Given the description of an element on the screen output the (x, y) to click on. 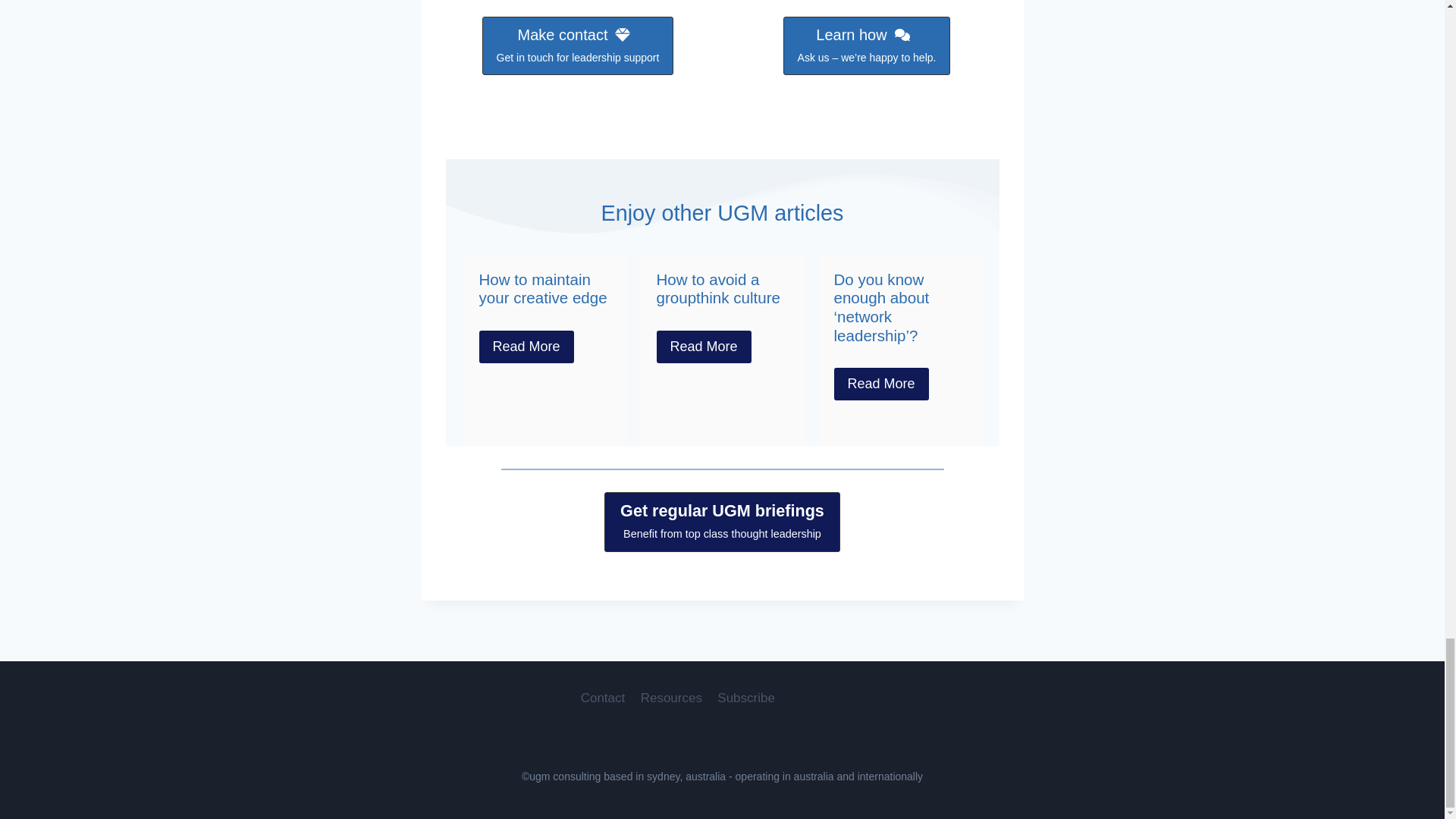
Read More (526, 346)
How to maintain your creative edge (543, 289)
How to avoid a groupthink culture (718, 289)
Read More (881, 383)
Contact (577, 45)
Read More (603, 697)
